Given the description of an element on the screen output the (x, y) to click on. 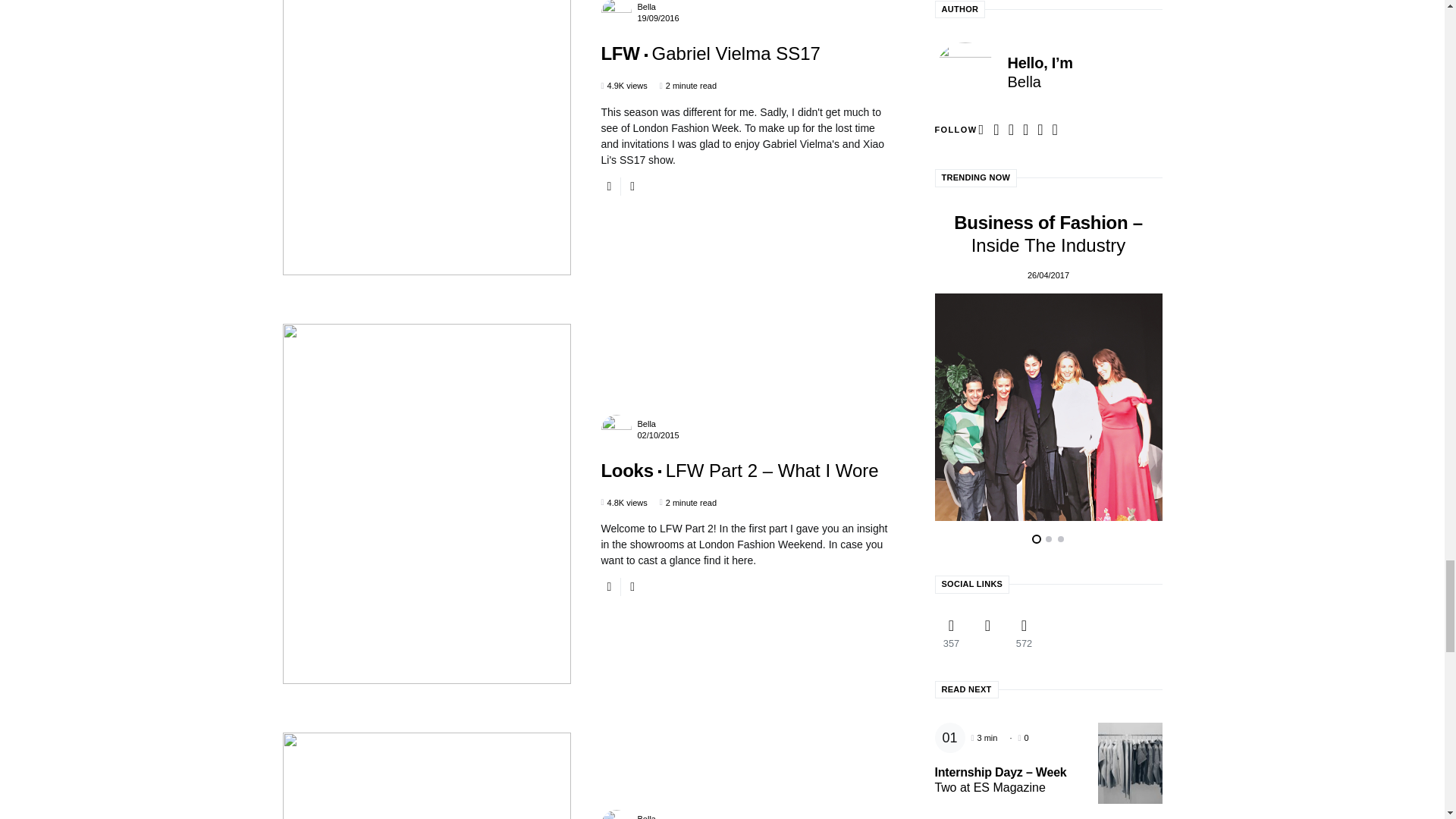
Gabriel Vielma SS17 (709, 53)
